Given the description of an element on the screen output the (x, y) to click on. 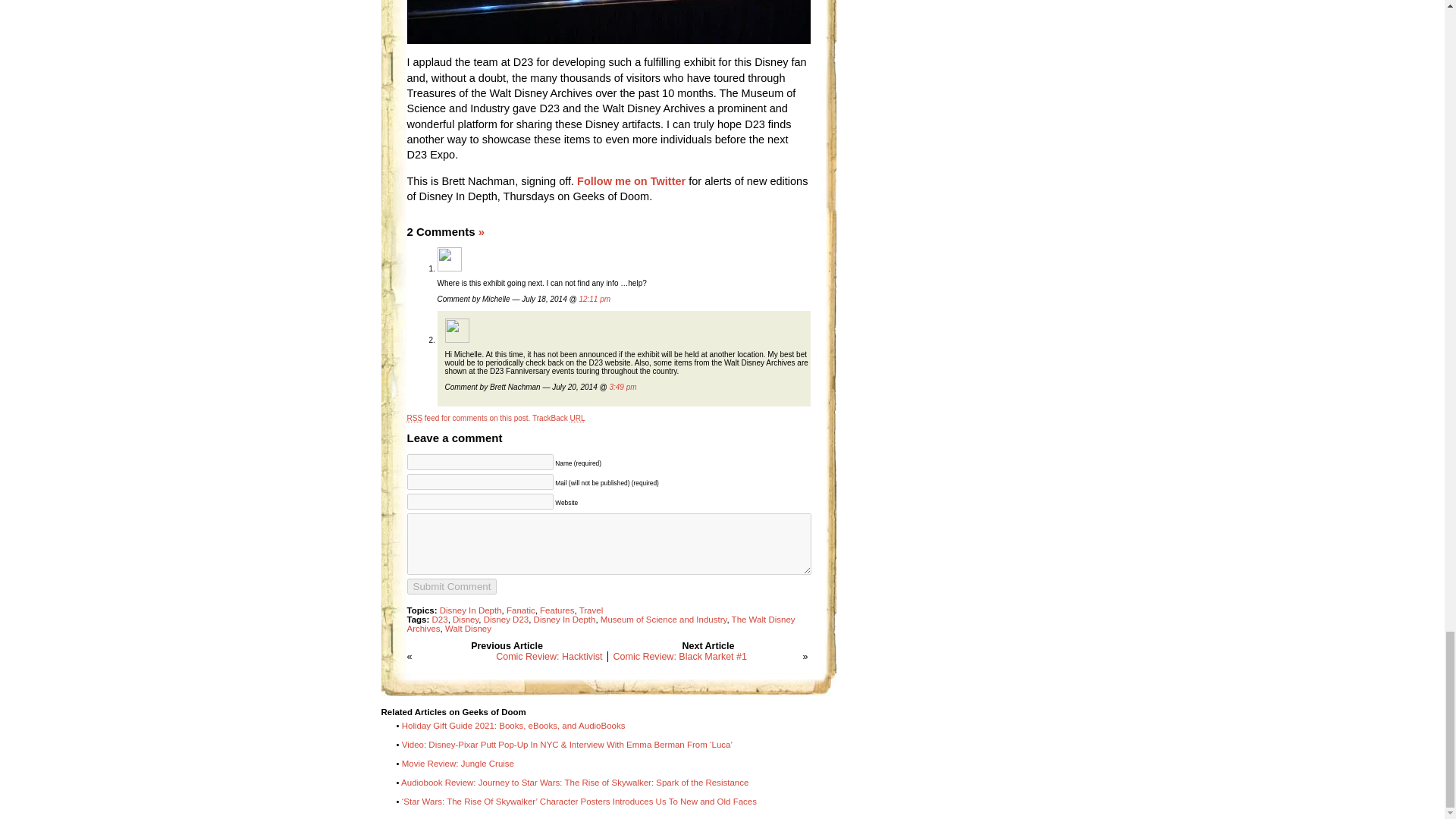
The Walt Disney Archives (600, 624)
Museum of Science and Industry (662, 619)
Holiday Gift Guide 2021: Books, eBooks, and AudioBooks (513, 725)
12:11 pm (594, 298)
Universal Resource Locator (577, 418)
D23 (440, 619)
Submit Comment (451, 586)
Disney In Depth (564, 619)
Comic Review: Hacktivist (549, 656)
Travel (591, 610)
Disney (465, 619)
Follow me on Twitter (630, 181)
Submit Comment (451, 586)
Disney In Depth (470, 610)
RSS feed for comments on this post. (467, 418)
